Given the description of an element on the screen output the (x, y) to click on. 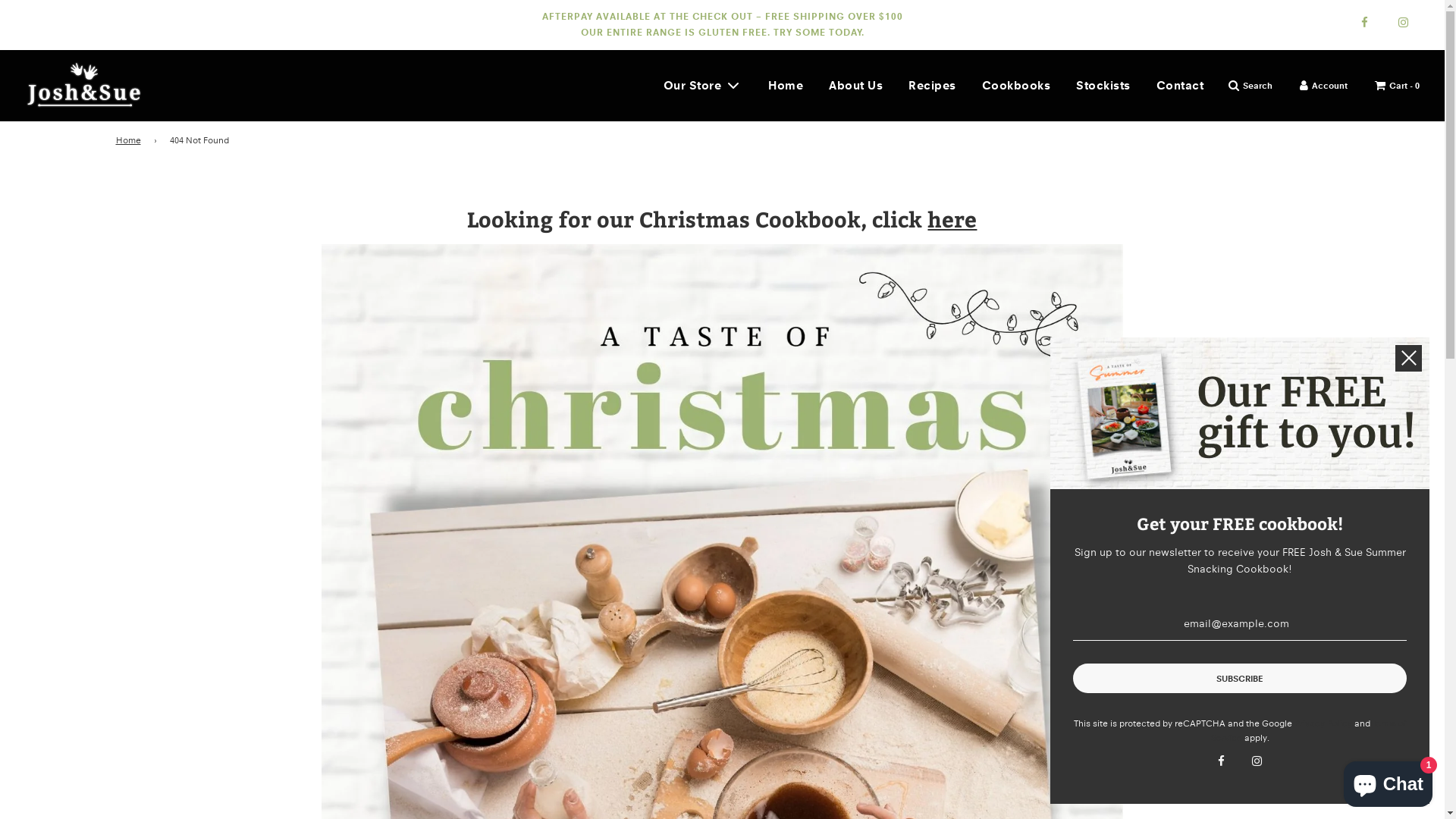
Home Element type: text (785, 85)
About Us Element type: text (855, 85)
Cookbooks Element type: text (1016, 85)
Home Element type: text (130, 139)
Terms of Service Element type: text (1307, 730)
Account Element type: text (1323, 85)
Search Element type: text (1250, 85)
Stockists Element type: text (1103, 85)
Recipes Element type: text (932, 85)
Contact Element type: text (1180, 85)
here Element type: text (951, 218)
Cart - 0 Element type: text (1397, 85)
Shopify online store chat Element type: hover (1388, 780)
Our Store Element type: text (703, 84)
Privacy Policy Element type: text (1322, 722)
Subscribe Element type: text (1239, 678)
